Given the description of an element on the screen output the (x, y) to click on. 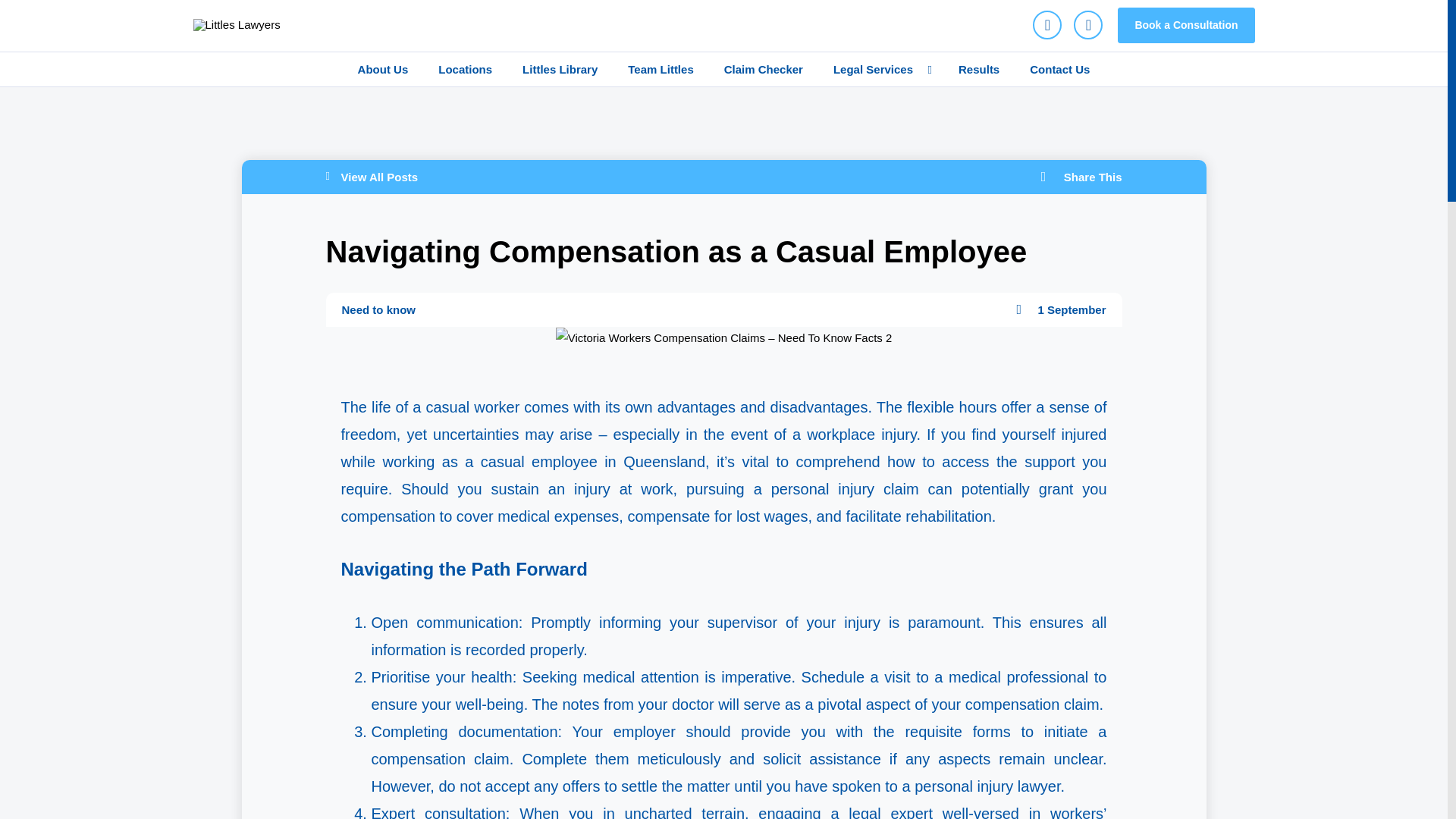
Locations (464, 69)
About Us (382, 69)
View All Posts (521, 176)
Results (978, 69)
Contact Us (1059, 69)
Claim Checker (763, 69)
Share This (1081, 176)
Legal Services (880, 69)
Littles Lawyers (235, 24)
Book a Consultation (1210, 25)
